Given the description of an element on the screen output the (x, y) to click on. 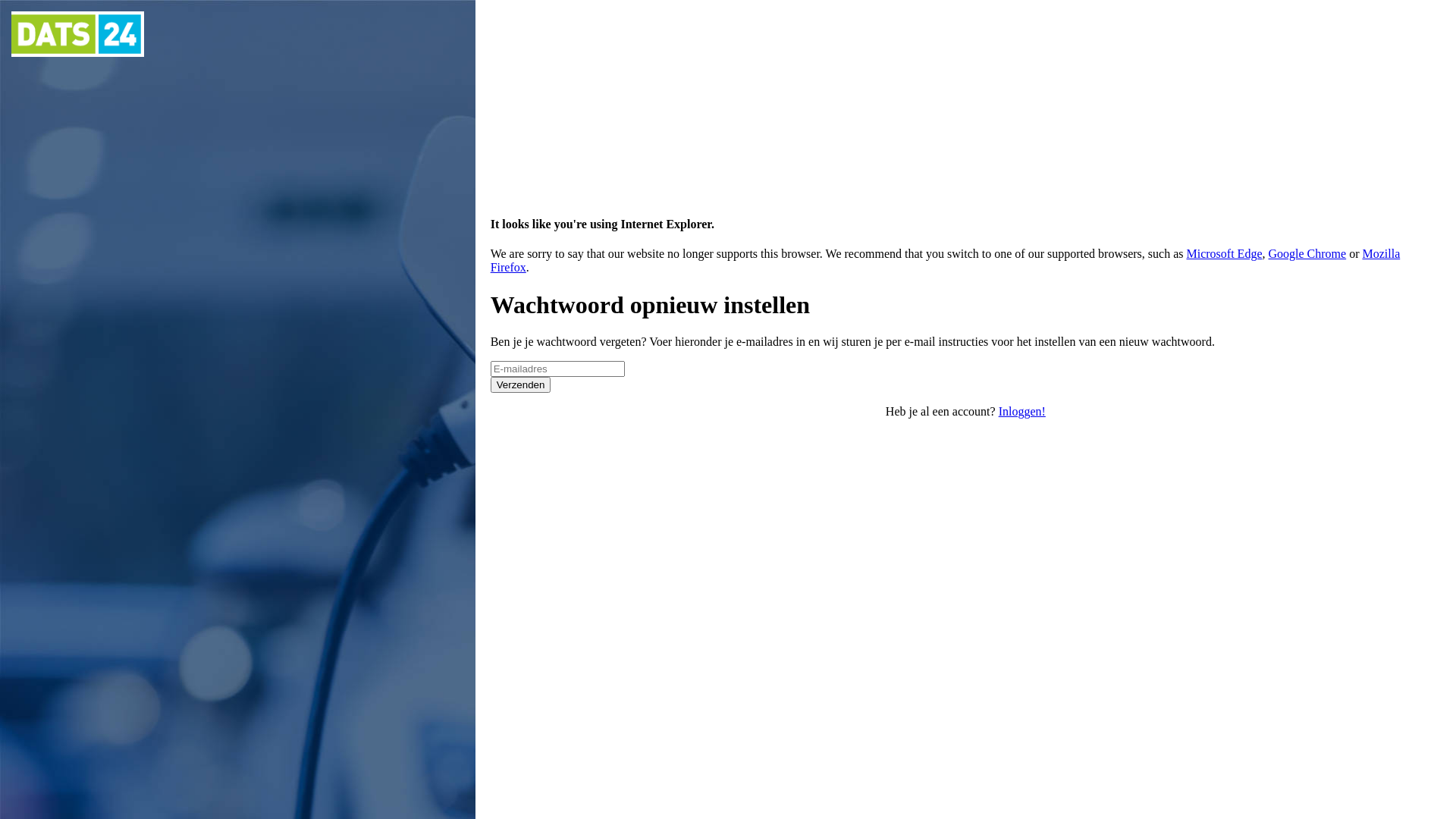
Inloggen! Element type: text (1021, 410)
Mozilla Firefox Element type: text (945, 260)
Google Chrome Element type: text (1306, 253)
Verzenden Element type: text (520, 384)
Microsoft Edge Element type: text (1223, 253)
